Given the description of an element on the screen output the (x, y) to click on. 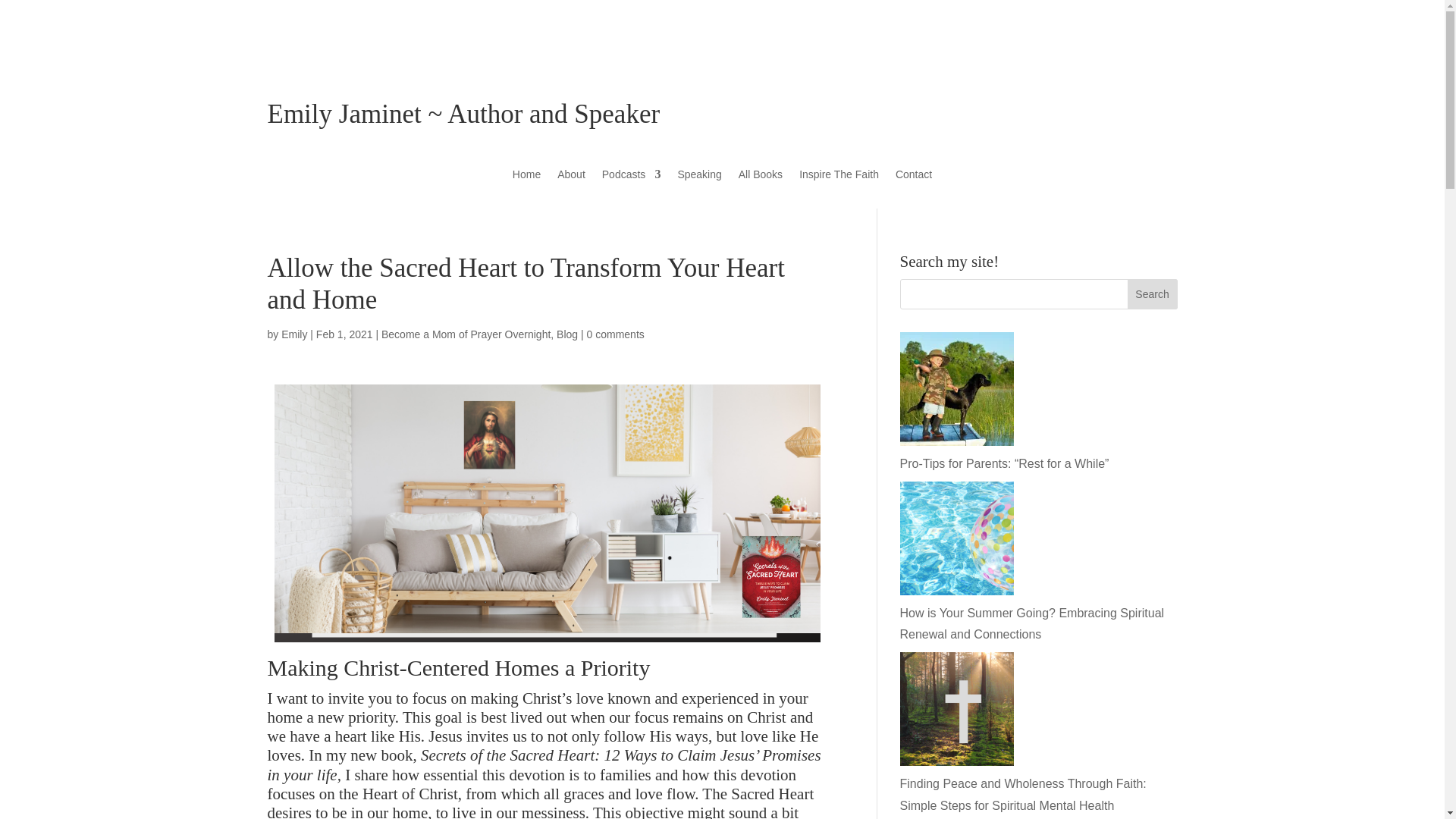
Speaking (698, 176)
Inspire The Faith (839, 176)
Posts by Emily (294, 334)
Search (1151, 294)
Home (526, 176)
Search (1151, 294)
Follow on Instagram (1164, 34)
All Books (760, 176)
Follow on Facebook (1104, 34)
Blog (567, 334)
